Given the description of an element on the screen output the (x, y) to click on. 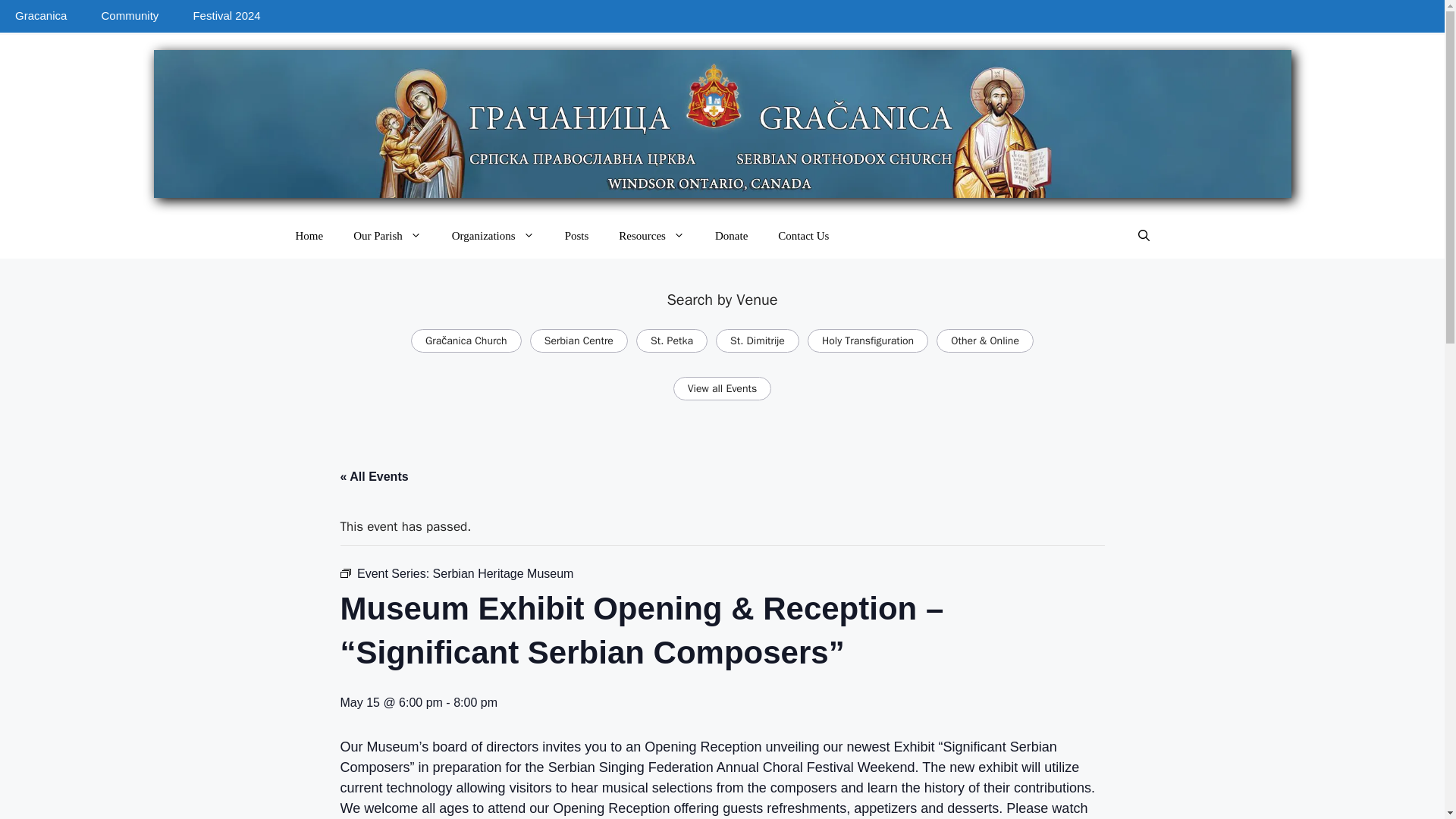
Gracanica (40, 16)
Event Series (344, 573)
Festival 2024 (226, 16)
Community (129, 16)
